Given the description of an element on the screen output the (x, y) to click on. 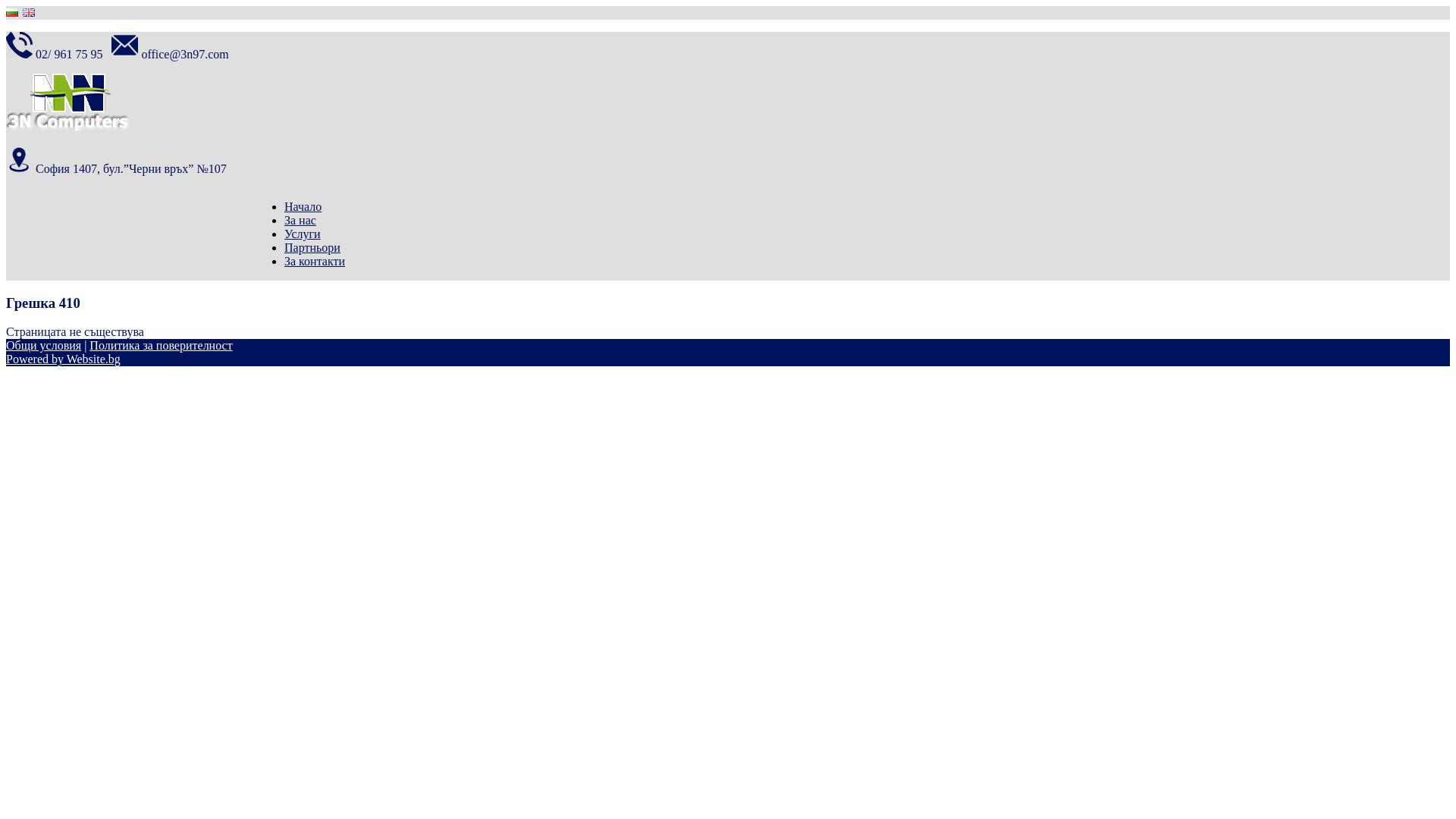
Powered by Website.bg Element type: text (63, 358)
